Given the description of an element on the screen output the (x, y) to click on. 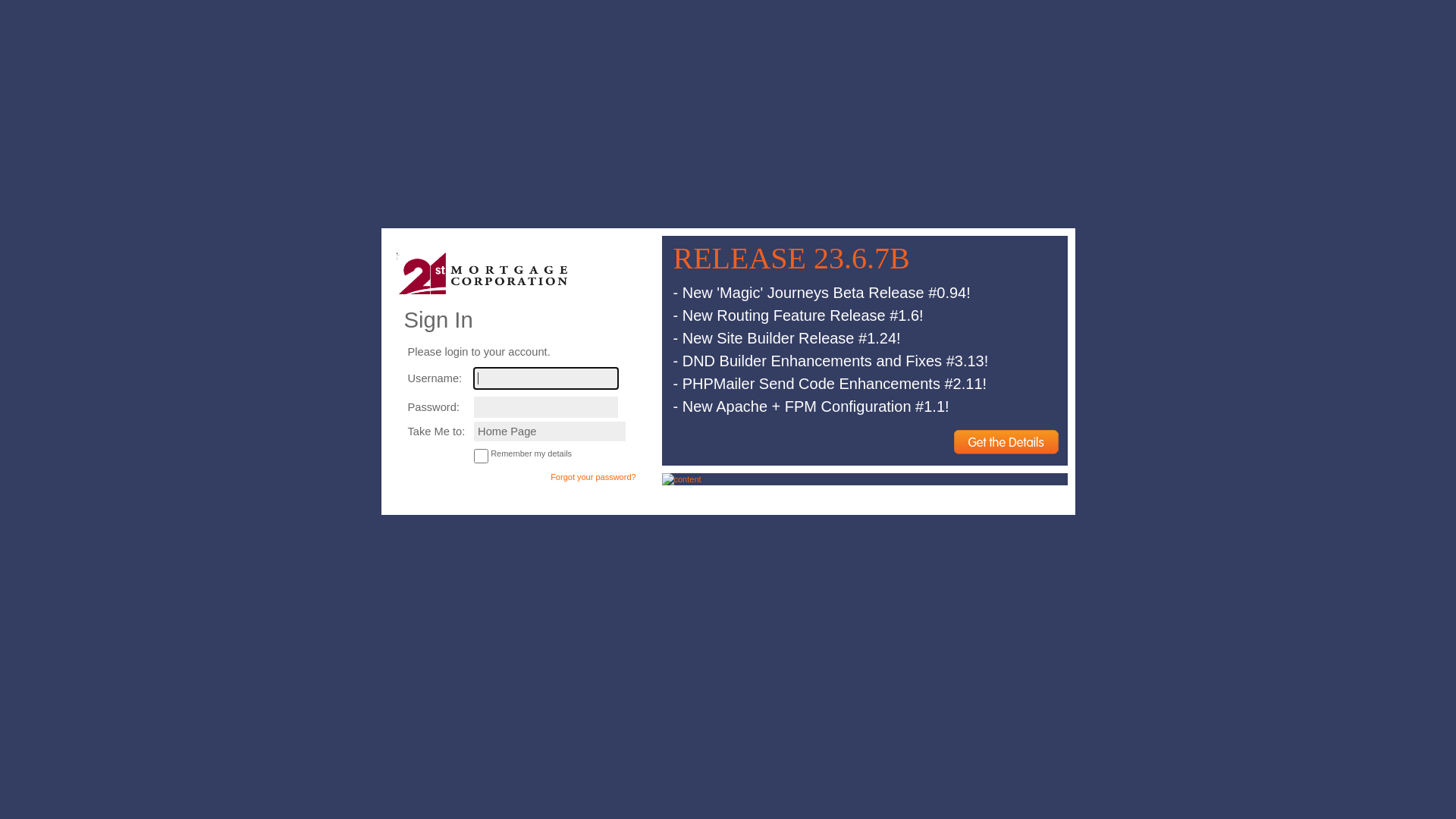
Forgot your password? Element type: text (593, 476)
